Given the description of an element on the screen output the (x, y) to click on. 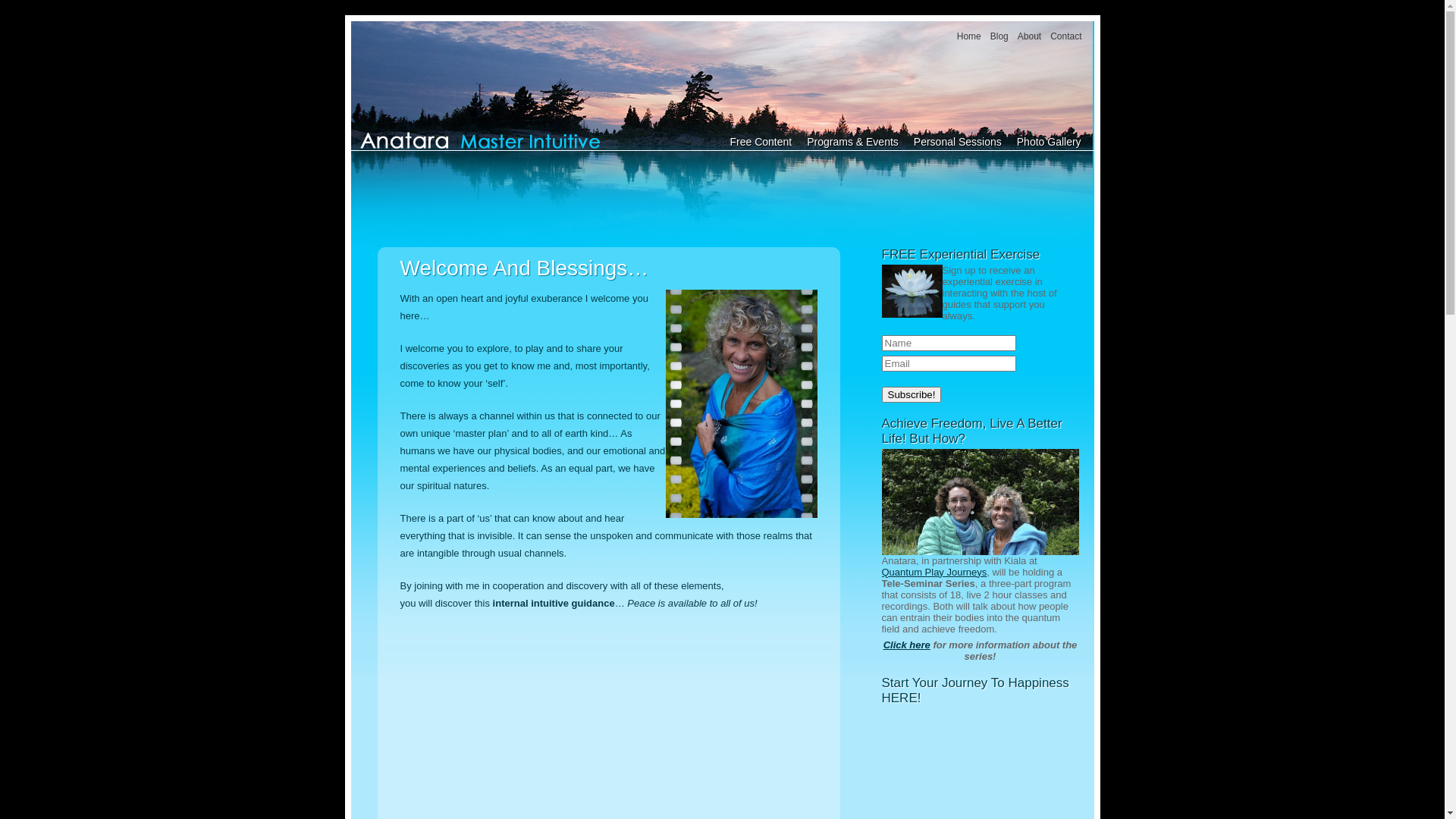
Blog Element type: text (999, 36)
Programs & Events Element type: text (852, 141)
Contact Element type: text (1065, 36)
Subscribe! Element type: text (911, 394)
Click here Element type: text (906, 644)
Photo Gallery Element type: text (1048, 141)
Name Element type: hover (948, 343)
Personal Sessions Element type: text (957, 141)
Free Content Element type: text (760, 141)
Home Element type: text (968, 36)
About Element type: text (1029, 36)
Email Element type: hover (948, 363)
Quantum Play Journeys Element type: text (933, 571)
